Given the description of an element on the screen output the (x, y) to click on. 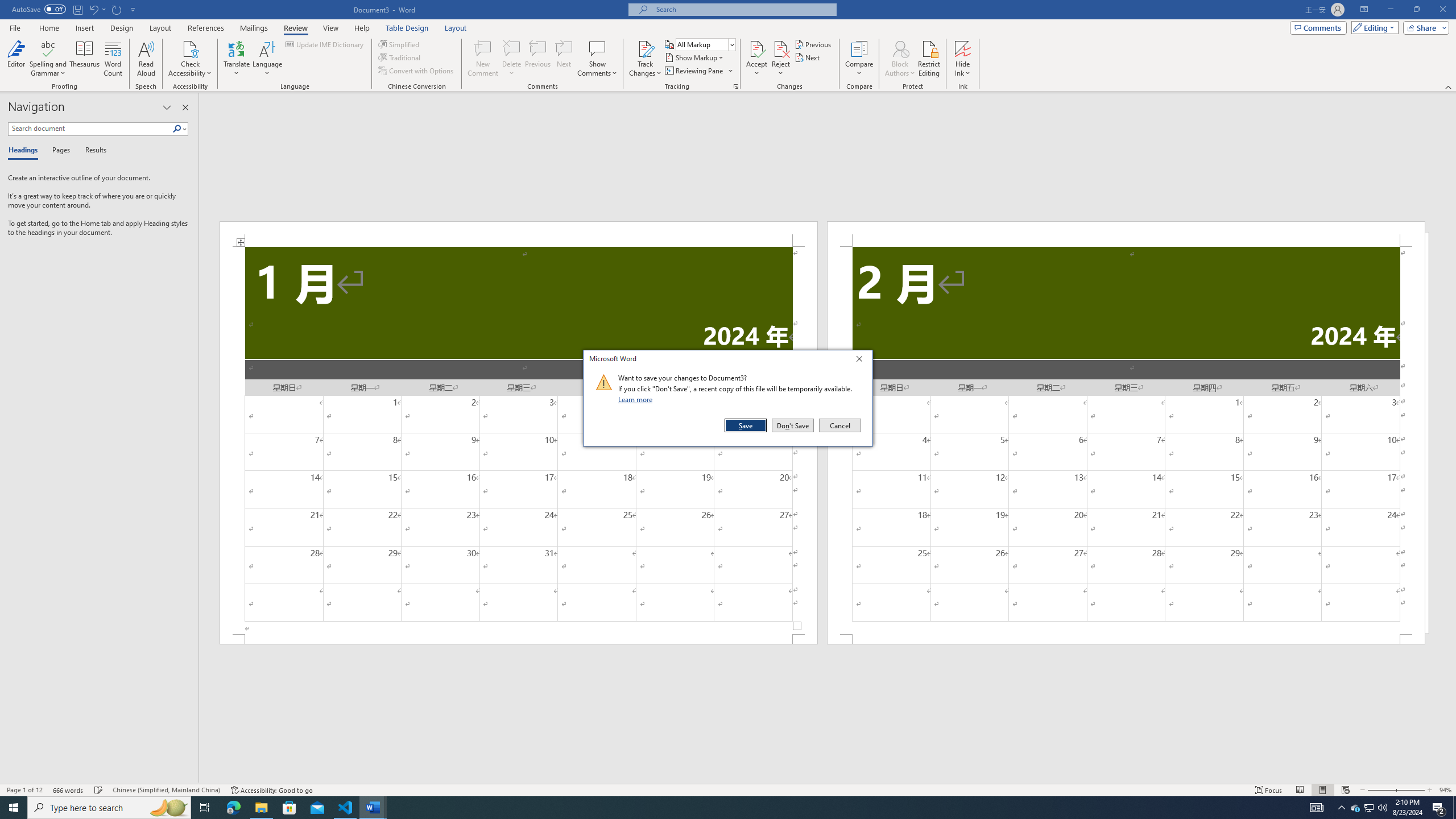
Convert with Options... (417, 69)
Header -Section 1- (518, 233)
Share (1423, 27)
Accessibility Checker Accessibility: Good to go (271, 790)
AutomationID: 4105 (1316, 807)
Header -Section 2- (1126, 233)
Footer -Section 1- (518, 638)
Show Comments (597, 58)
Close pane (185, 107)
Search highlights icon opens search home window (167, 807)
Spelling and Grammar (48, 58)
Block Authors (900, 58)
Word Count 666 words (68, 790)
Q2790: 100% (1382, 807)
Track Changes (644, 48)
